Given the description of an element on the screen output the (x, y) to click on. 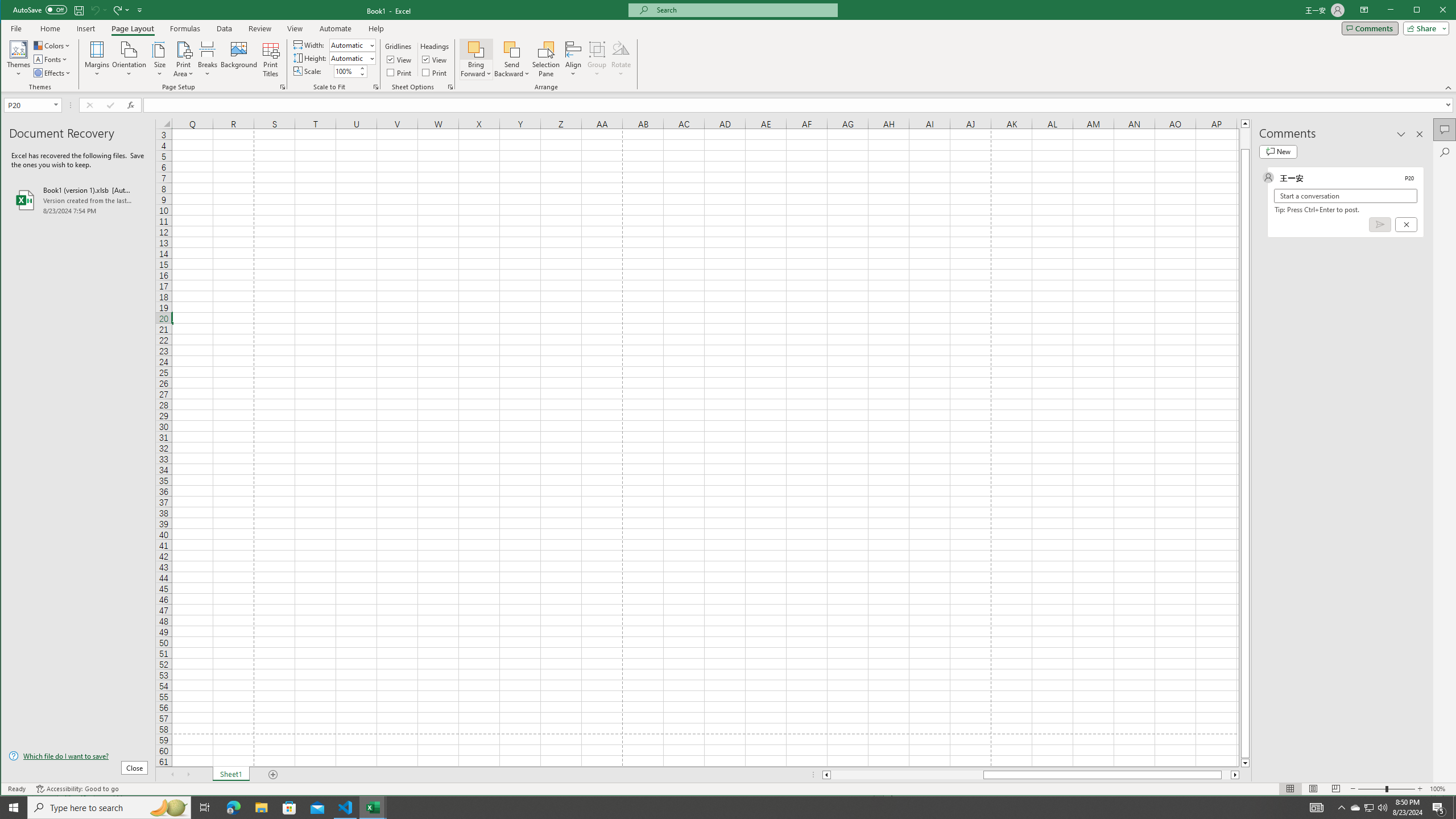
Q2790: 100% (1382, 807)
File Explorer (261, 807)
Maximize (1432, 11)
Effects (53, 72)
Type here to search (1368, 807)
AutomationID: 4105 (108, 807)
